Given the description of an element on the screen output the (x, y) to click on. 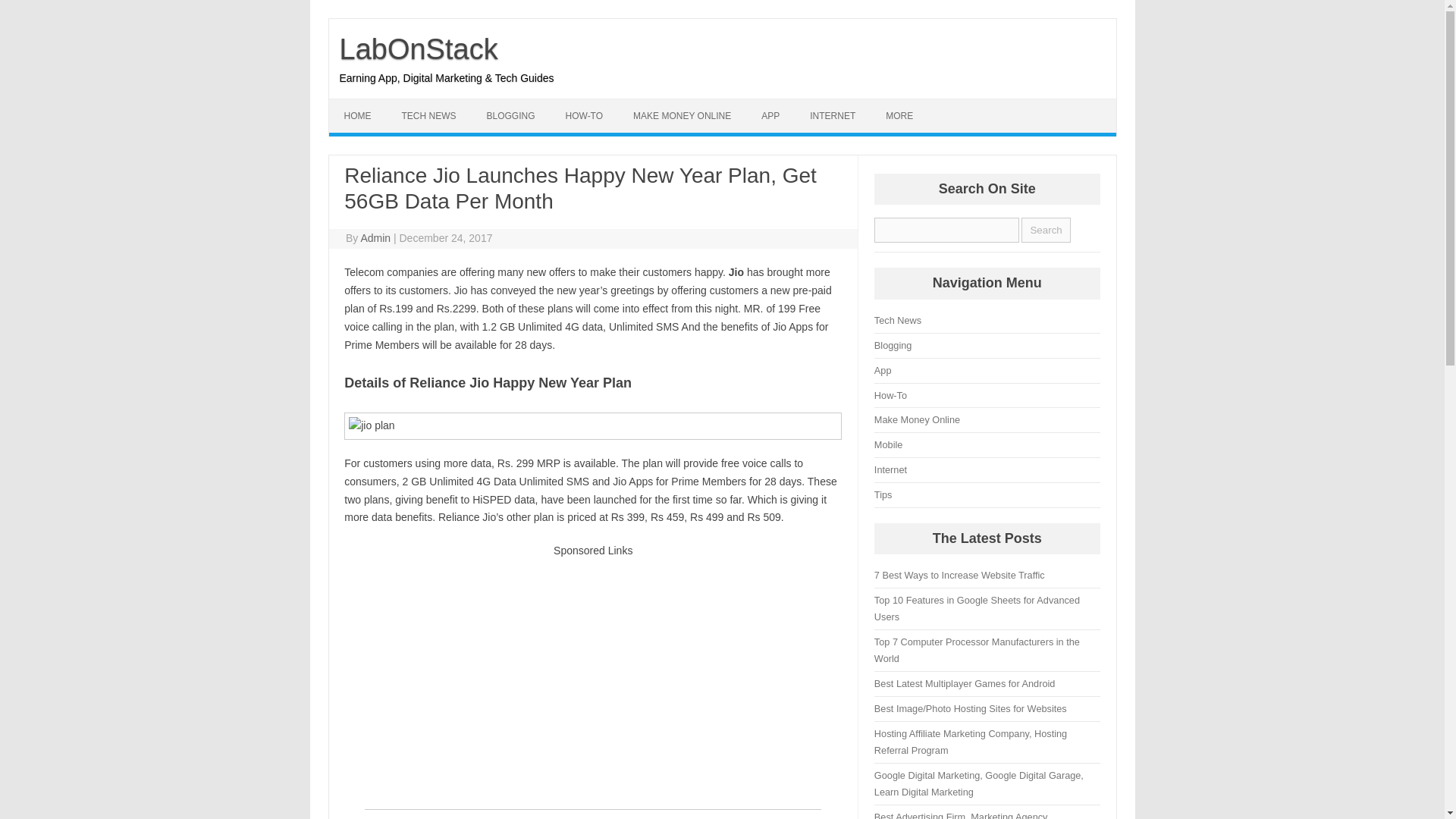
Posts by Admin (374, 237)
BLOGGING (510, 115)
TECH NEWS (429, 115)
Tech News (898, 319)
Make Money Online (917, 419)
HOW-TO (584, 115)
INTERNET (832, 115)
HOME (358, 115)
Blogging (893, 345)
Search (1046, 229)
Tips (883, 494)
Mobile (888, 444)
Top 7 Computer Processor Manufacturers in the World (977, 650)
